Given the description of an element on the screen output the (x, y) to click on. 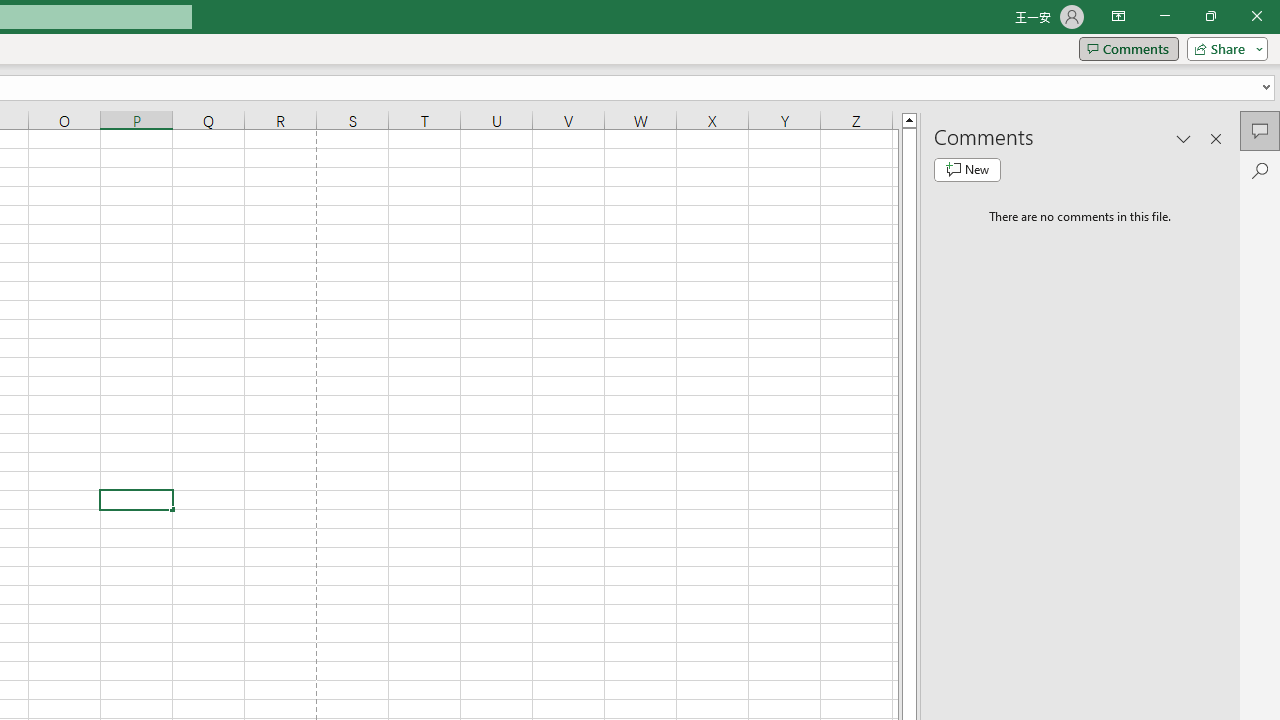
New comment (967, 169)
